Given the description of an element on the screen output the (x, y) to click on. 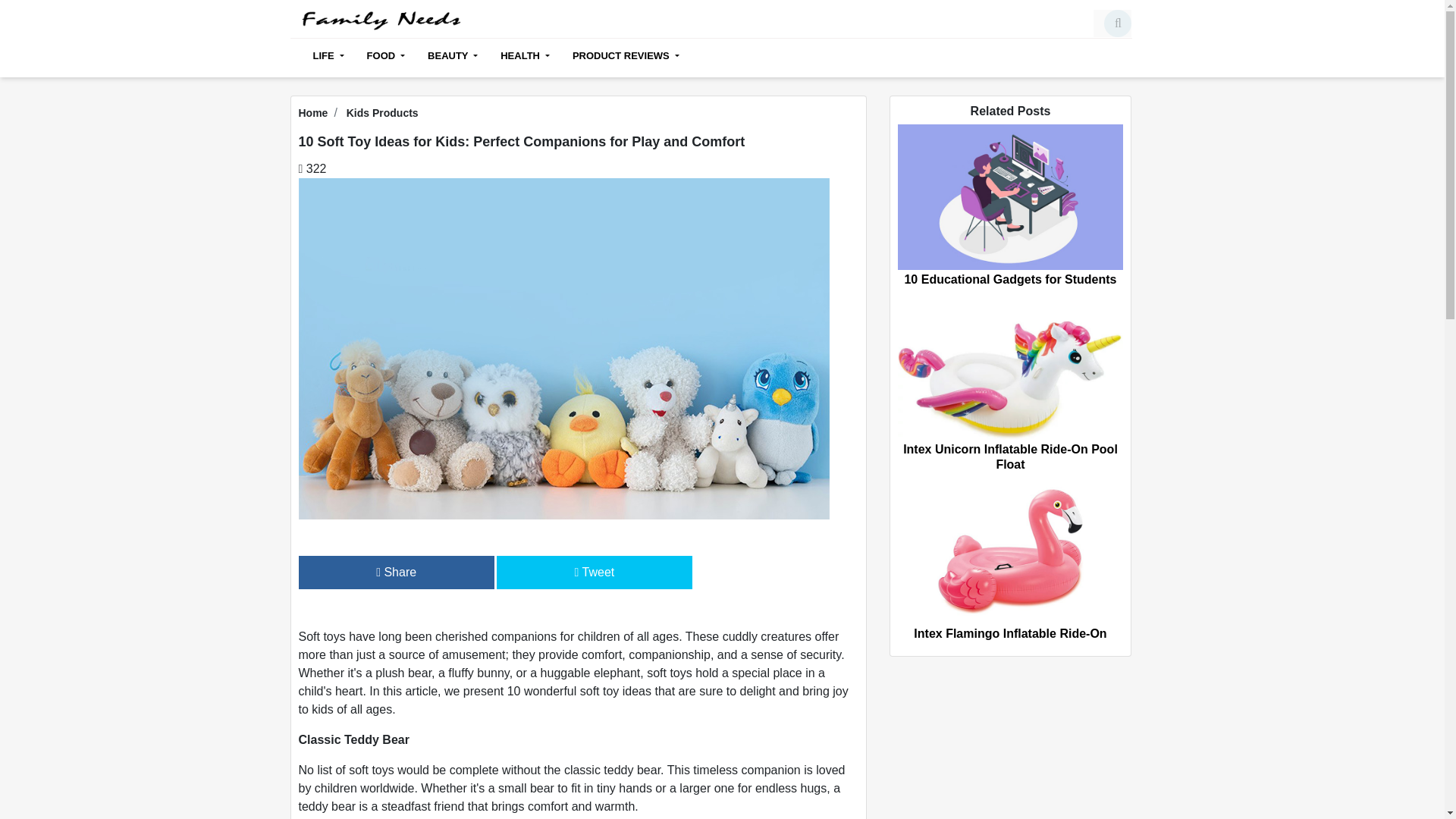
LIFE (328, 55)
BEAUTY (452, 55)
PRODUCT REVIEWS (619, 55)
HEALTH (524, 55)
FOOD (385, 55)
